Given the description of an element on the screen output the (x, y) to click on. 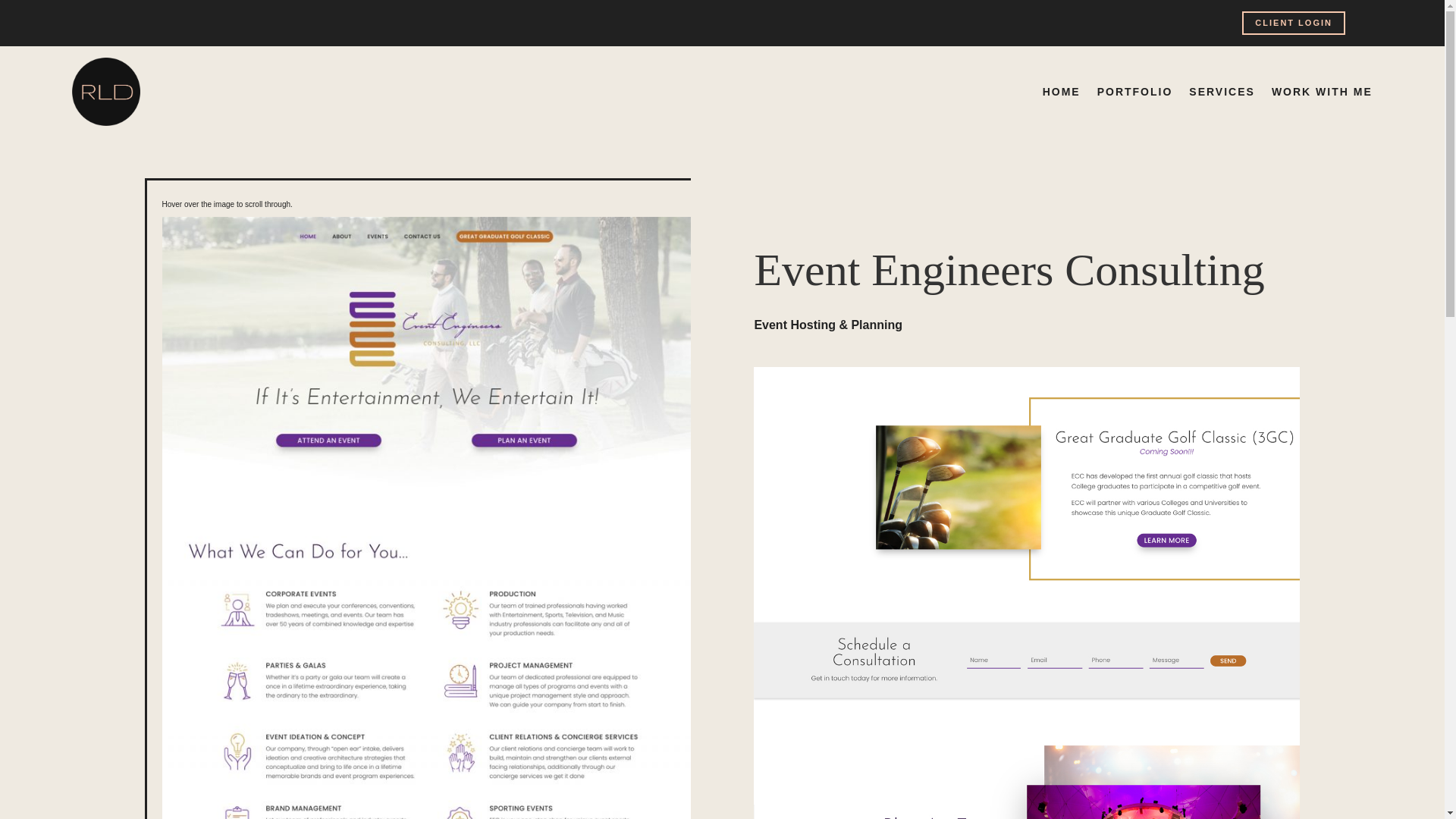
WORK WITH ME (1322, 91)
PORTFOLIO (1135, 91)
CLIENT LOGIN (1293, 23)
SERVICES (1222, 91)
